Given the description of an element on the screen output the (x, y) to click on. 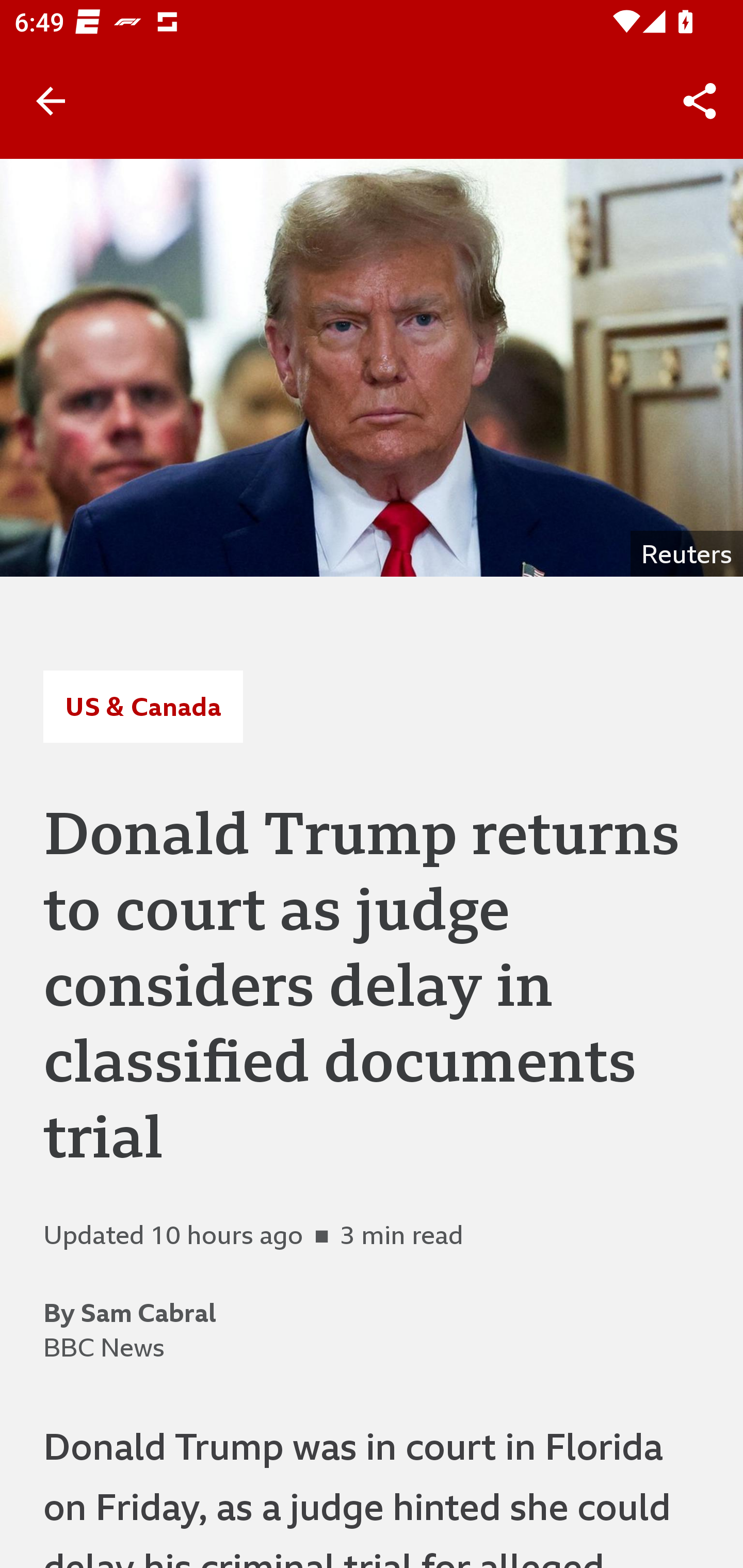
Back (50, 101)
Share (699, 101)
US & Canada (142, 706)
